Given the description of an element on the screen output the (x, y) to click on. 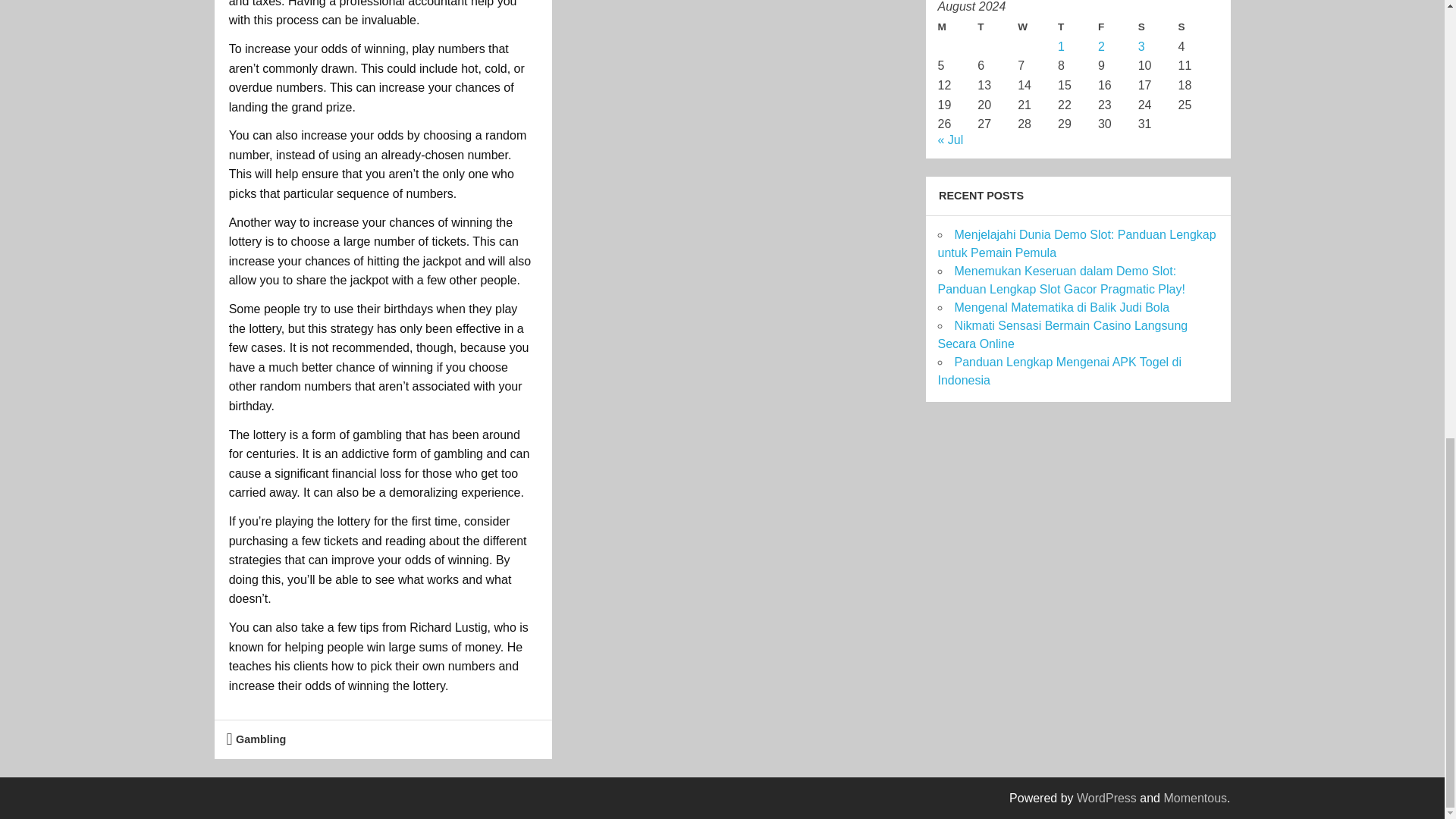
WordPress (1107, 797)
Momentous WordPress Theme (1195, 797)
Wednesday (1037, 26)
Tuesday (996, 26)
Gambling (260, 739)
Friday (1117, 26)
Sunday (1197, 26)
Monday (956, 26)
Saturday (1157, 26)
Thursday (1077, 26)
